Given the description of an element on the screen output the (x, y) to click on. 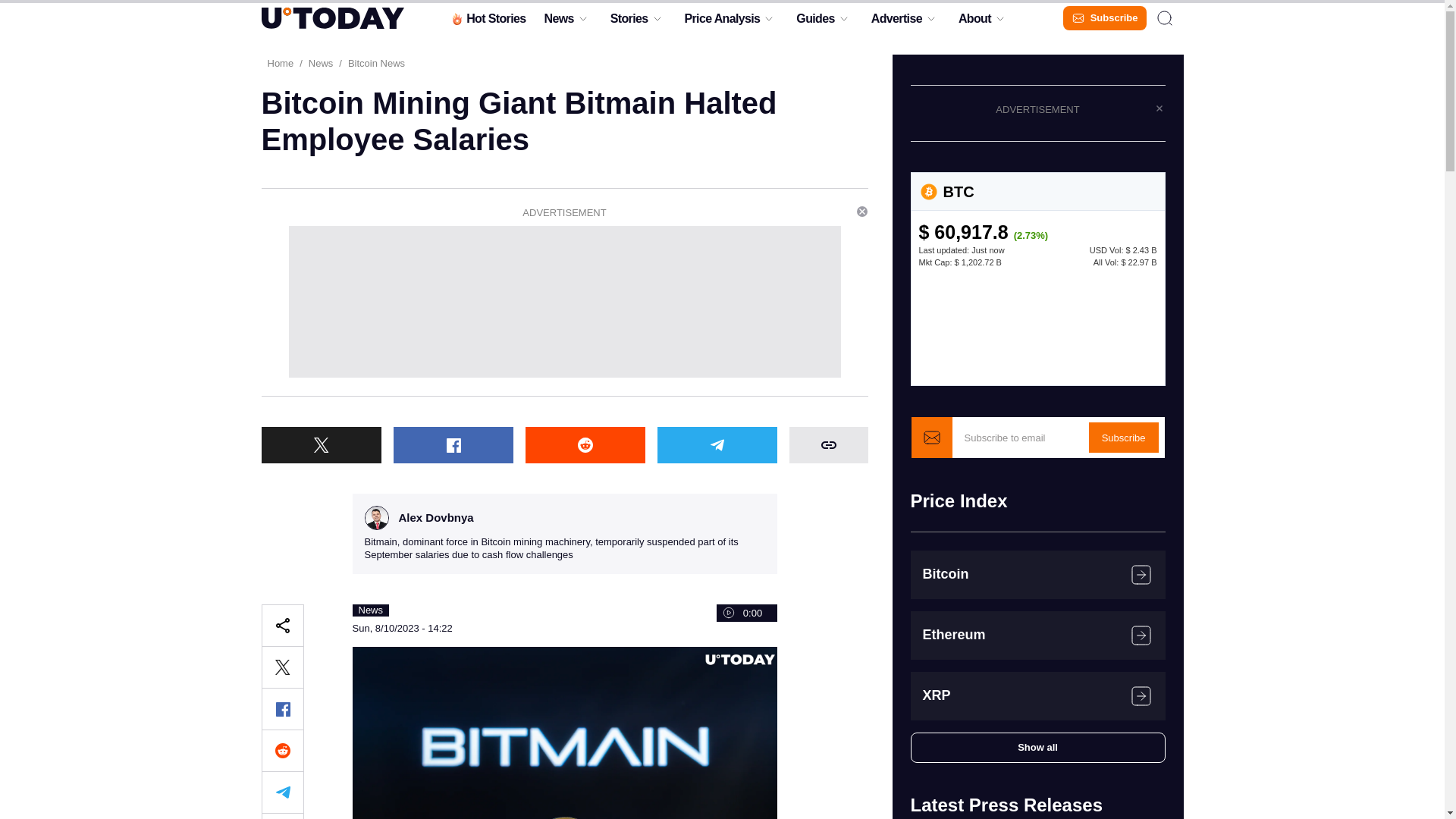
Share to X (281, 667)
Share to Telegram (281, 792)
Advertisement (564, 301)
Hot Stories (486, 22)
Share to X (320, 444)
News (558, 22)
U.Today logo (331, 17)
Share to Reddit (281, 750)
Share to Telegram (716, 444)
Share to Facebook (452, 444)
